Given the description of an element on the screen output the (x, y) to click on. 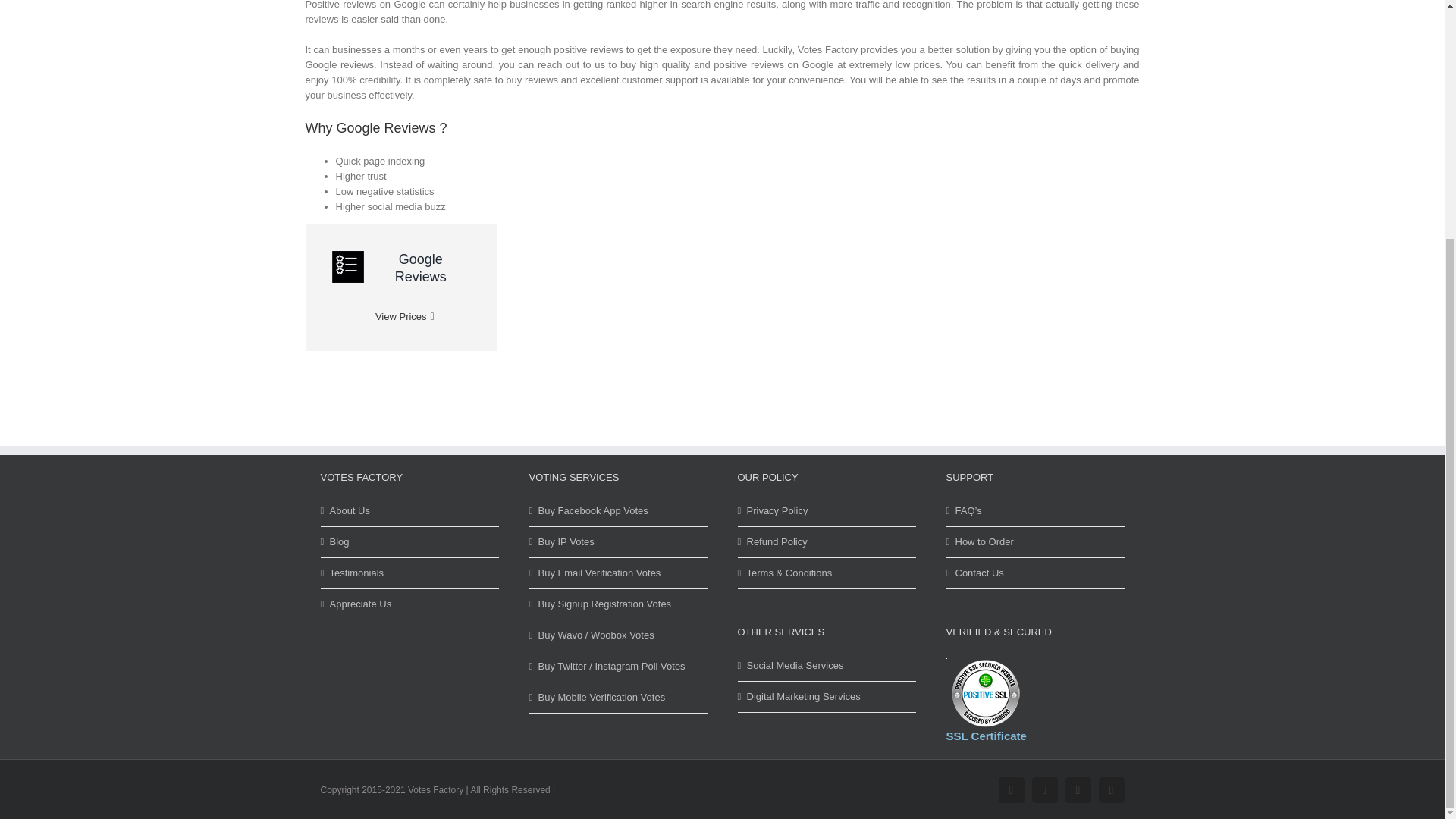
SSL Certificate (985, 693)
Facebook (1010, 790)
Twitter (1043, 790)
YouTube (1077, 790)
